Given the description of an element on the screen output the (x, y) to click on. 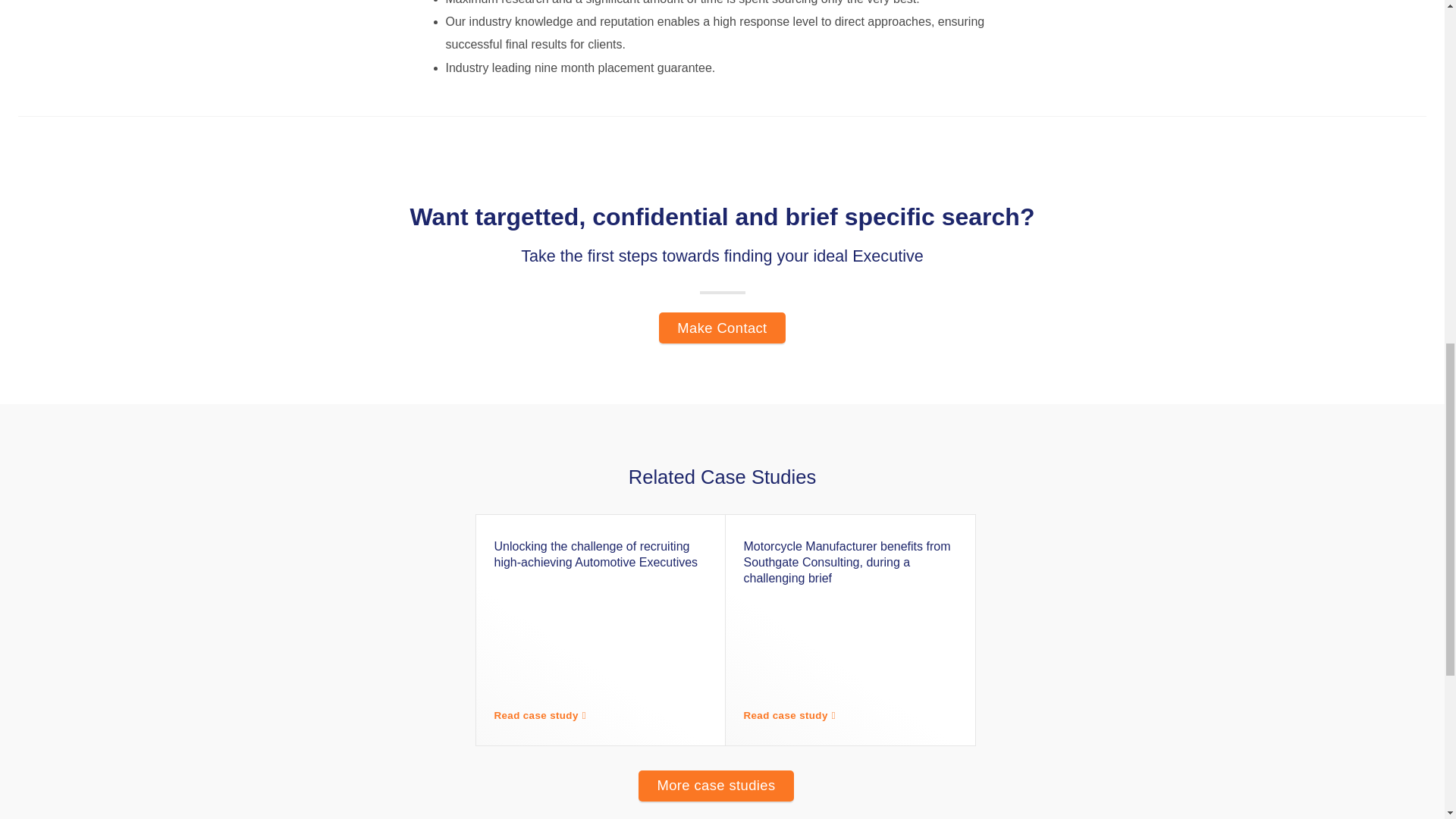
Read case study (544, 715)
Read case study (792, 715)
More case studies (716, 785)
